Given the description of an element on the screen output the (x, y) to click on. 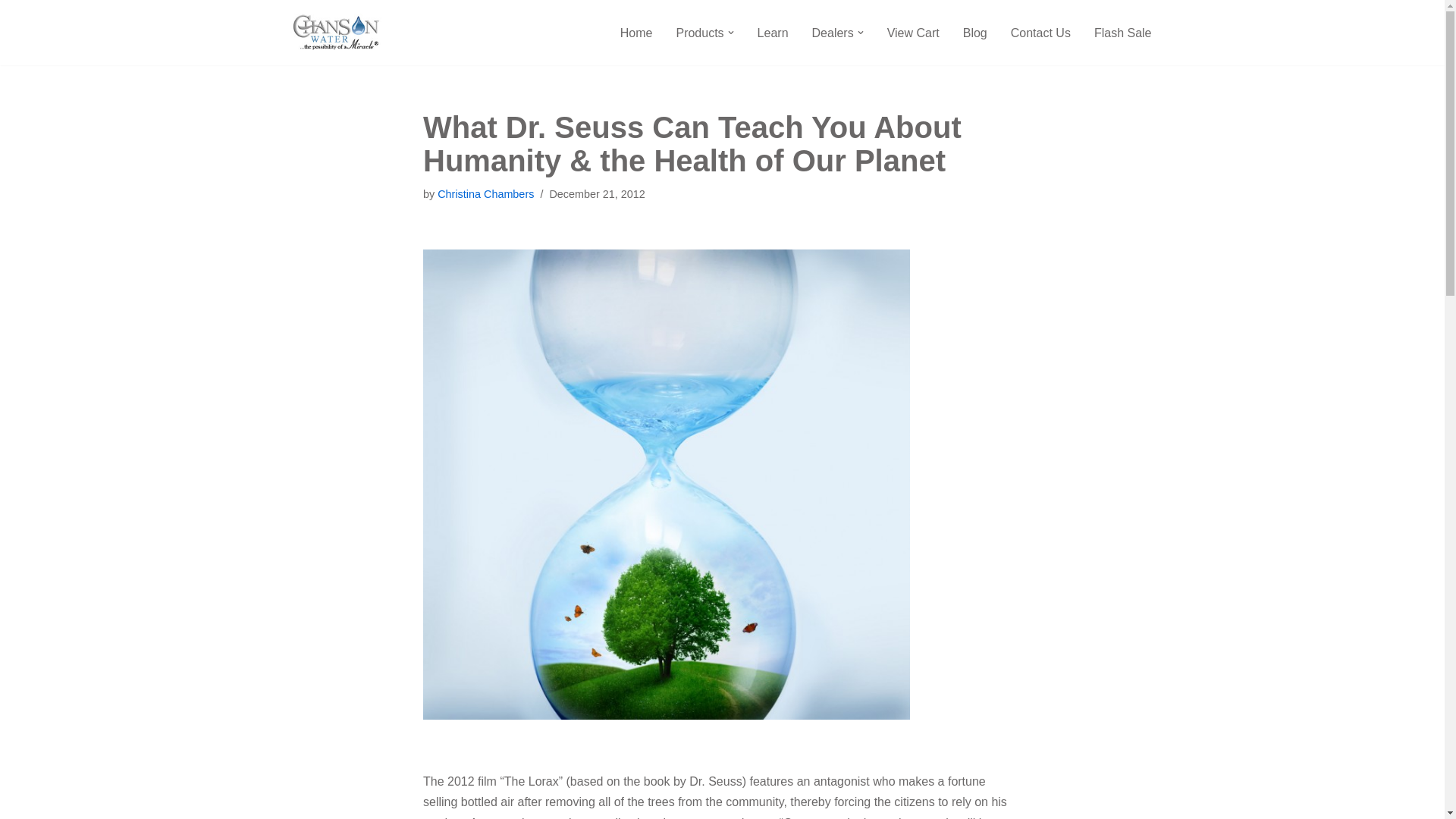
Dealers (832, 32)
Blog (974, 32)
Flash Sale (1122, 32)
Posts by Christina Chambers (486, 193)
Chanson Water (334, 32)
Home (636, 32)
Learn (773, 32)
View Cart (912, 32)
Products (699, 32)
Contact Us (1040, 32)
Skip to content (11, 31)
